Given the description of an element on the screen output the (x, y) to click on. 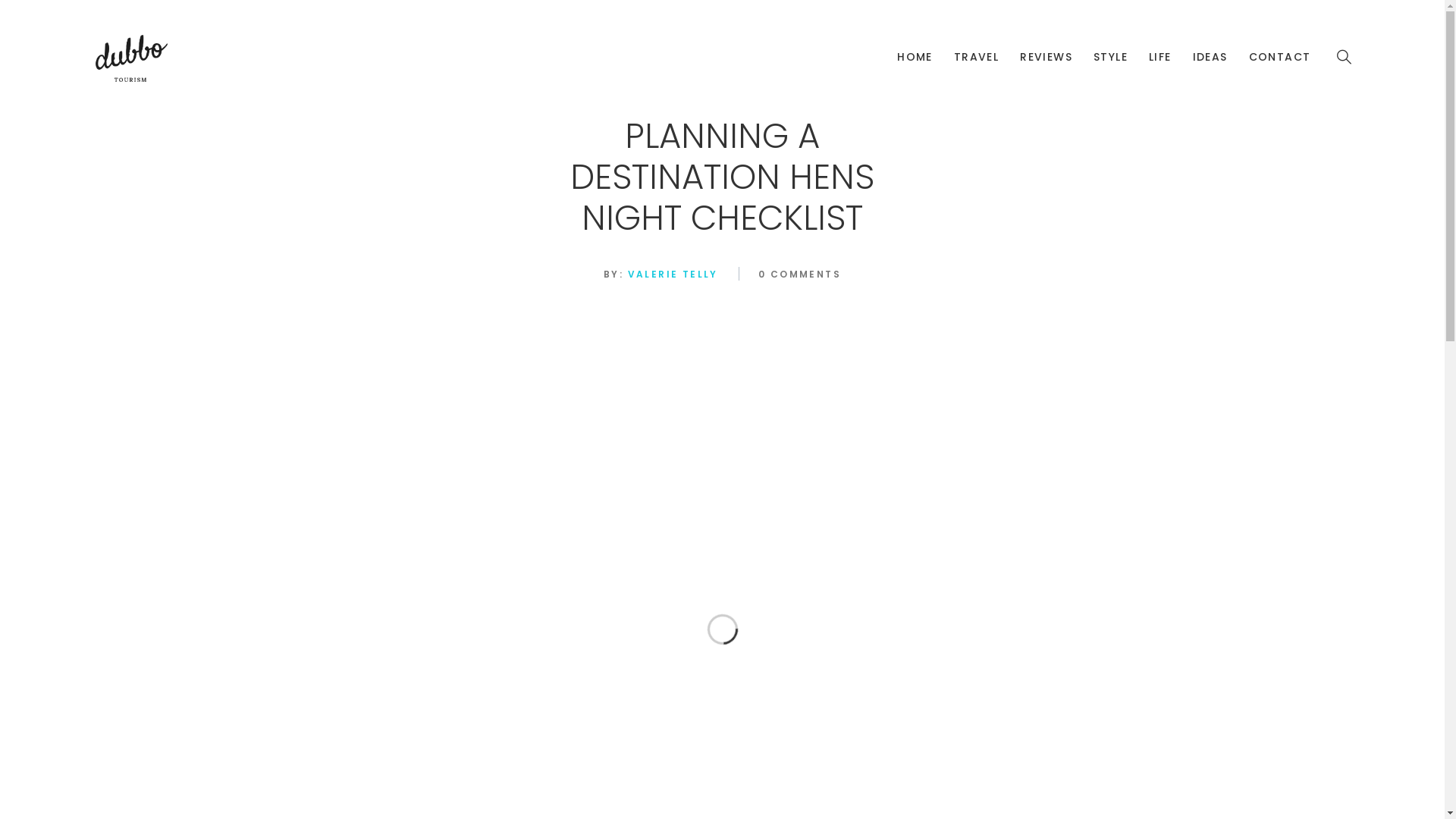
IDEAS Element type: text (1209, 56)
STYLE Element type: text (1110, 56)
HOME Element type: text (914, 56)
VALERIE TELLY Element type: text (670, 273)
LIFE Element type: text (1159, 56)
TRAVEL Element type: text (975, 56)
REVIEWS Element type: text (1045, 56)
PLANNING A DESTINATION HENS NIGHT CHECKLIST Element type: text (722, 176)
CONTACT Element type: text (1279, 56)
0 COMMENTS Element type: text (799, 273)
